Given the description of an element on the screen output the (x, y) to click on. 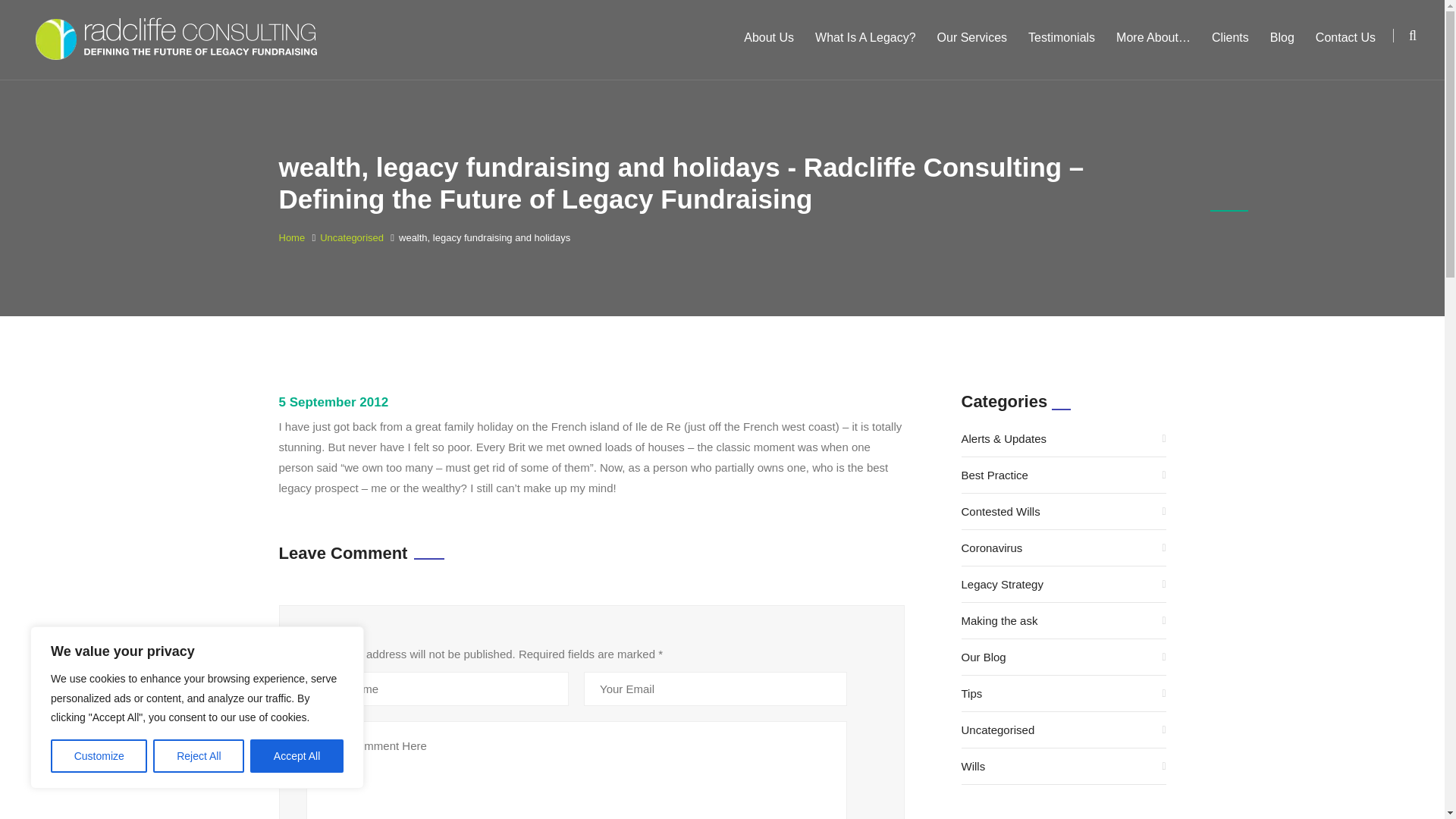
Our Services (972, 38)
Accept All (296, 756)
Customize (98, 756)
What Is A Legacy? (865, 38)
What Is A Legacy? (865, 38)
Our Services (972, 38)
Reject All (198, 756)
Wellinor (180, 39)
